Given the description of an element on the screen output the (x, y) to click on. 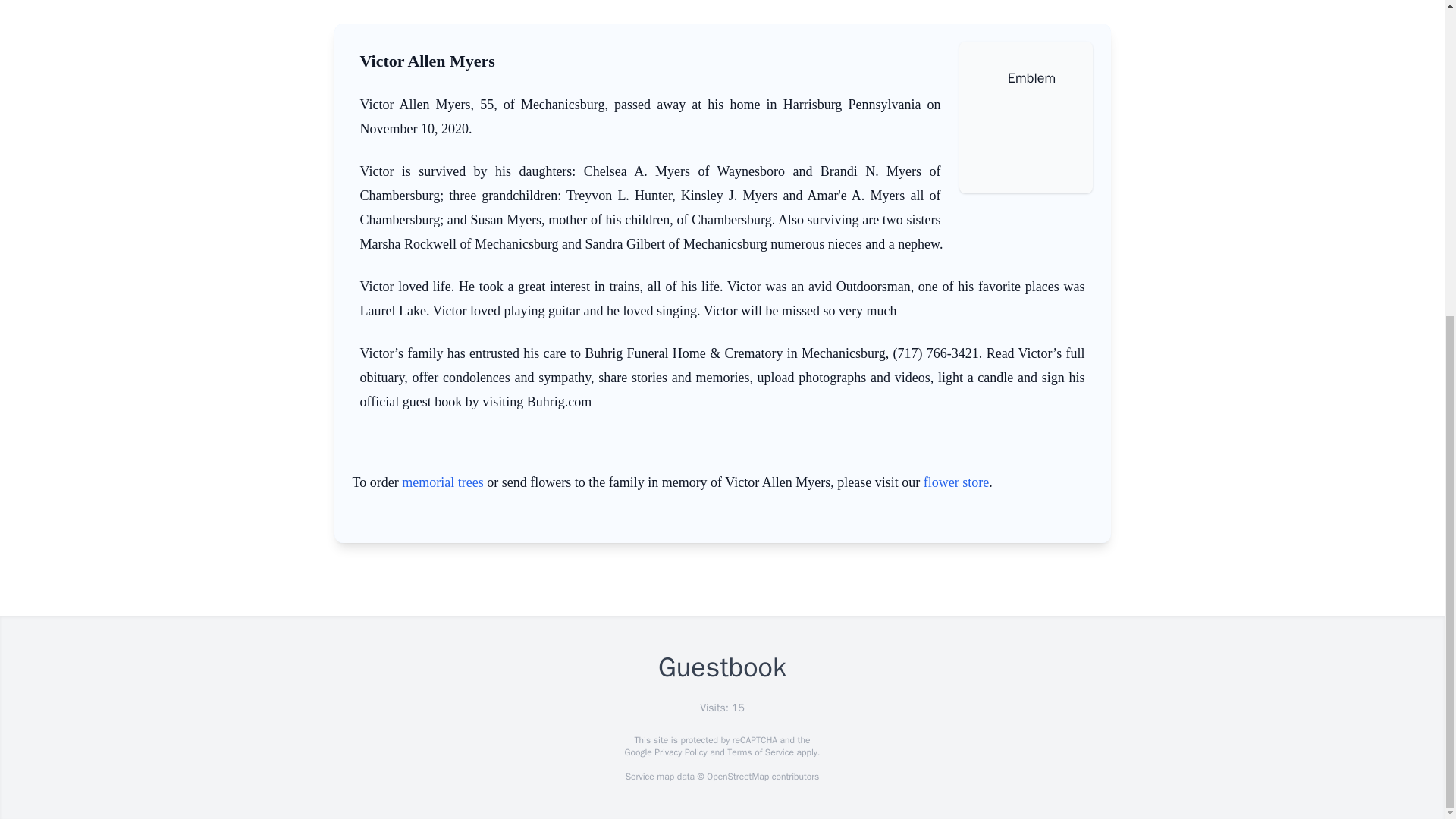
Privacy Policy (679, 752)
Terms of Service (759, 752)
memorial trees (442, 482)
OpenStreetMap (737, 776)
flower store (955, 482)
